Given the description of an element on the screen output the (x, y) to click on. 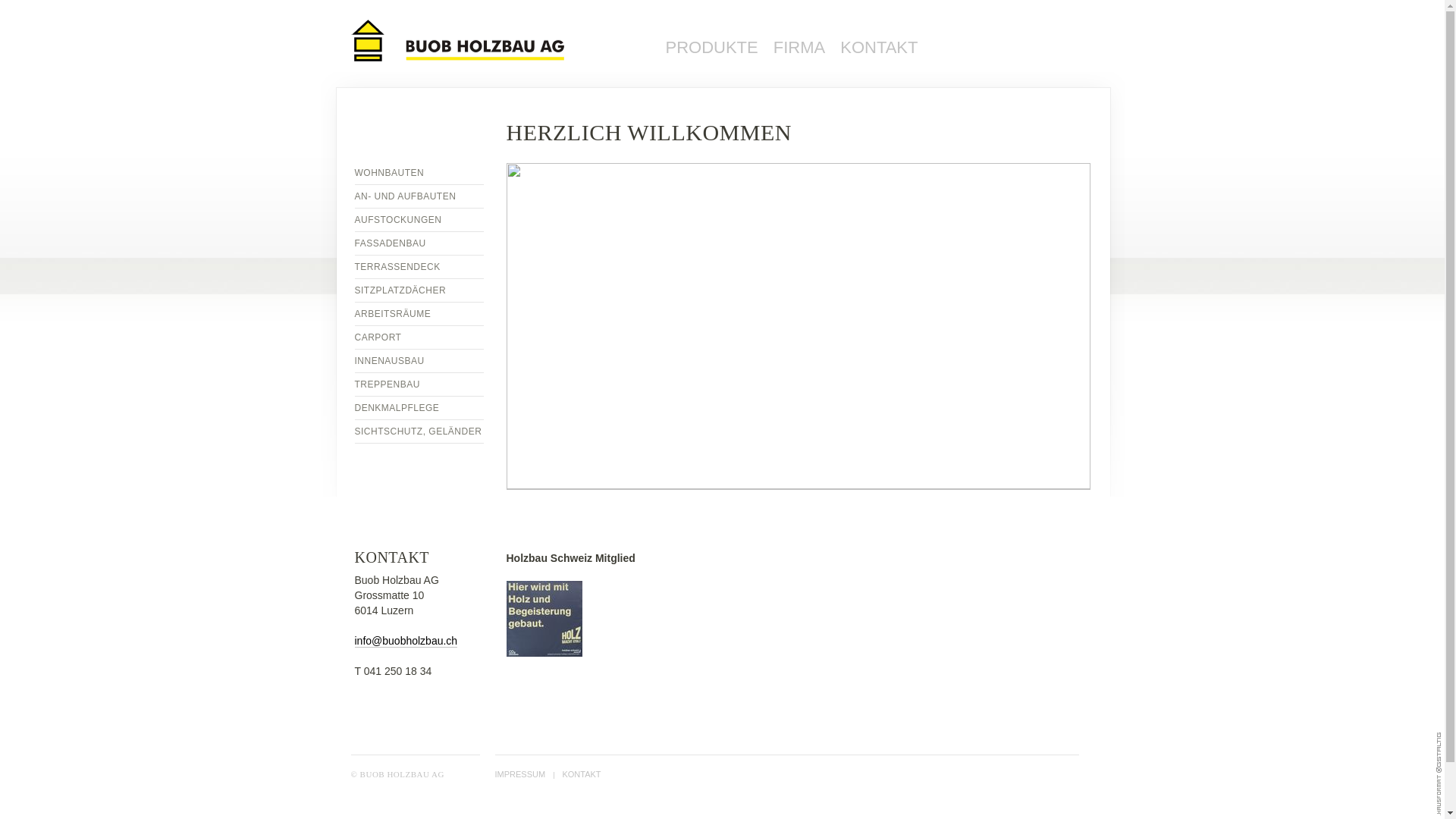
Gstaltig Element type: text (1438, 750)
Buob Holzbau AG Element type: text (494, 41)
AN- UND AUFBAUTEN Element type: text (418, 196)
DENKMALPFLEGE Element type: text (418, 407)
FASSADENBAU Element type: text (418, 243)
AUFSTOCKUNGEN Element type: text (418, 219)
CARPORT Element type: text (418, 337)
INNENAUSBAU Element type: text (418, 360)
TERRASSENDECK Element type: text (418, 266)
info@buobholzbau.ch Element type: text (406, 640)
KONTAKT Element type: text (580, 773)
KONTAKT Element type: text (878, 46)
TREPPENBAU Element type: text (418, 384)
FIRMA Element type: text (799, 46)
PRODUKTE Element type: text (711, 46)
IMPRESSUM Element type: text (519, 773)
WOHNBAUTEN Element type: text (418, 172)
